Given the description of an element on the screen output the (x, y) to click on. 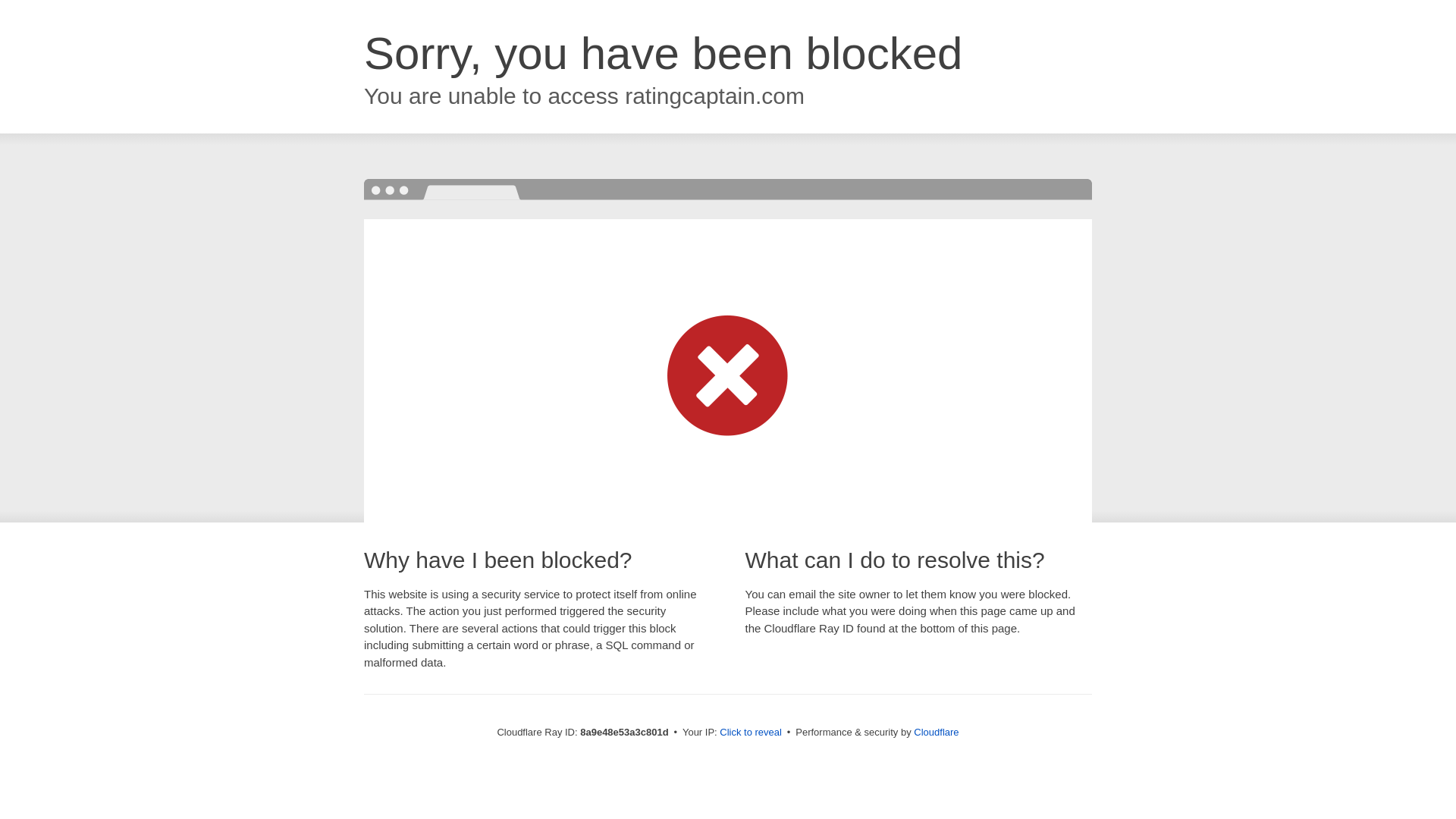
Cloudflare (936, 731)
Click to reveal (750, 732)
